Given the description of an element on the screen output the (x, y) to click on. 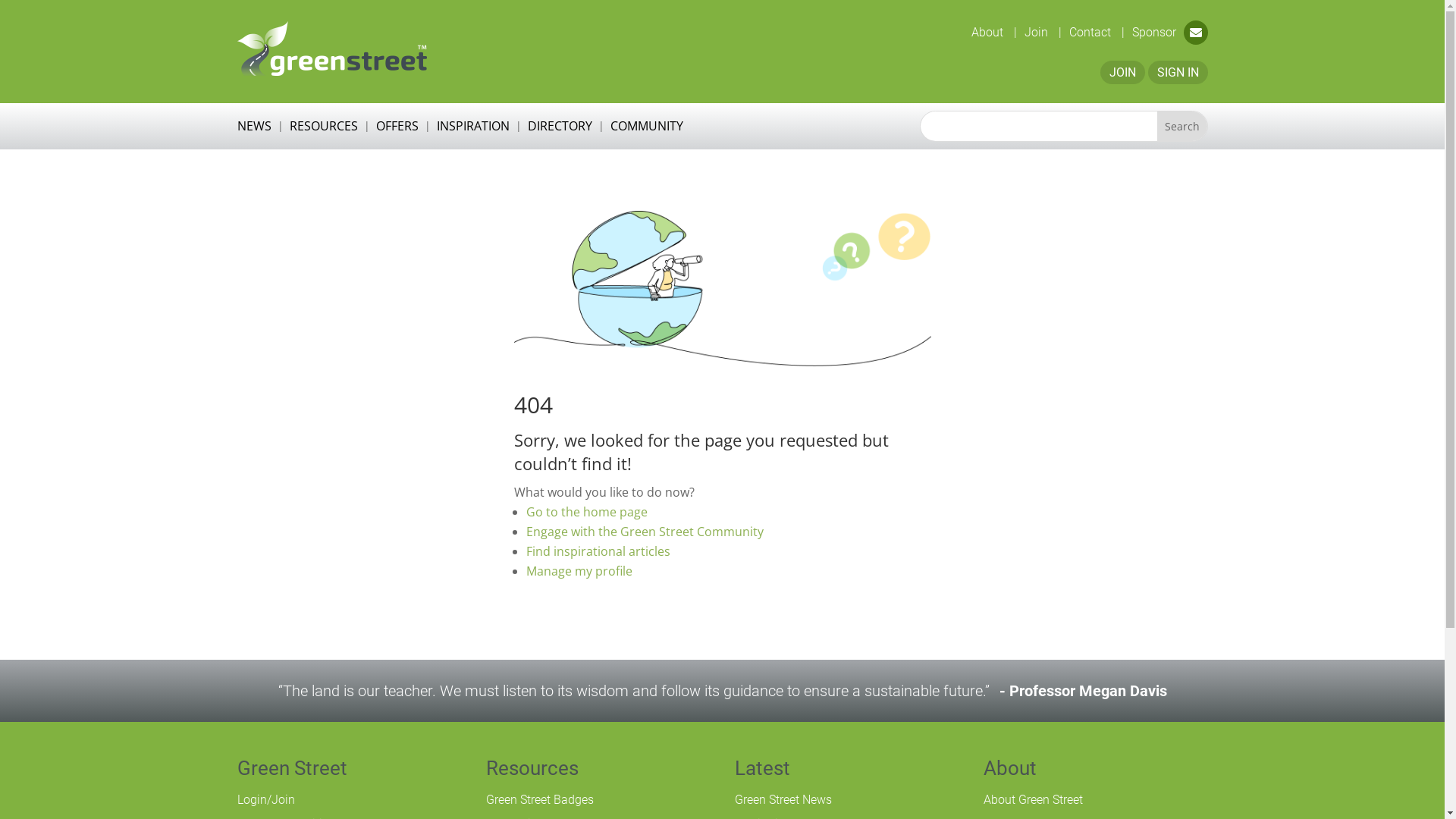
NEWS Element type: text (253, 128)
Go to the home page Element type: text (586, 511)
Login/Join Element type: text (265, 798)
SIGN IN Element type: text (1178, 72)
Find inspirational articles Element type: text (598, 550)
RESOURCES Element type: text (323, 128)
JOIN Element type: text (1121, 72)
Contact Element type: text (1096, 32)
DIRECTORY Element type: text (559, 128)
Green Street Badges Element type: text (539, 798)
OFFERS Element type: text (397, 128)
Green Street News Element type: text (782, 798)
Search Element type: text (1182, 126)
Manage my profile Element type: text (579, 570)
Green Street Element type: hover (331, 48)
Engage with the Green Street Community Element type: text (644, 531)
Join Element type: text (1041, 32)
About Element type: text (1008, 767)
Sponsor Element type: text (1153, 32)
COMMUNITY Element type: text (645, 128)
About Element type: text (993, 32)
Resources Element type: text (531, 767)
INSPIRATION Element type: text (472, 128)
About Green Street Element type: text (1032, 798)
Green Street Element type: text (291, 767)
